Given the description of an element on the screen output the (x, y) to click on. 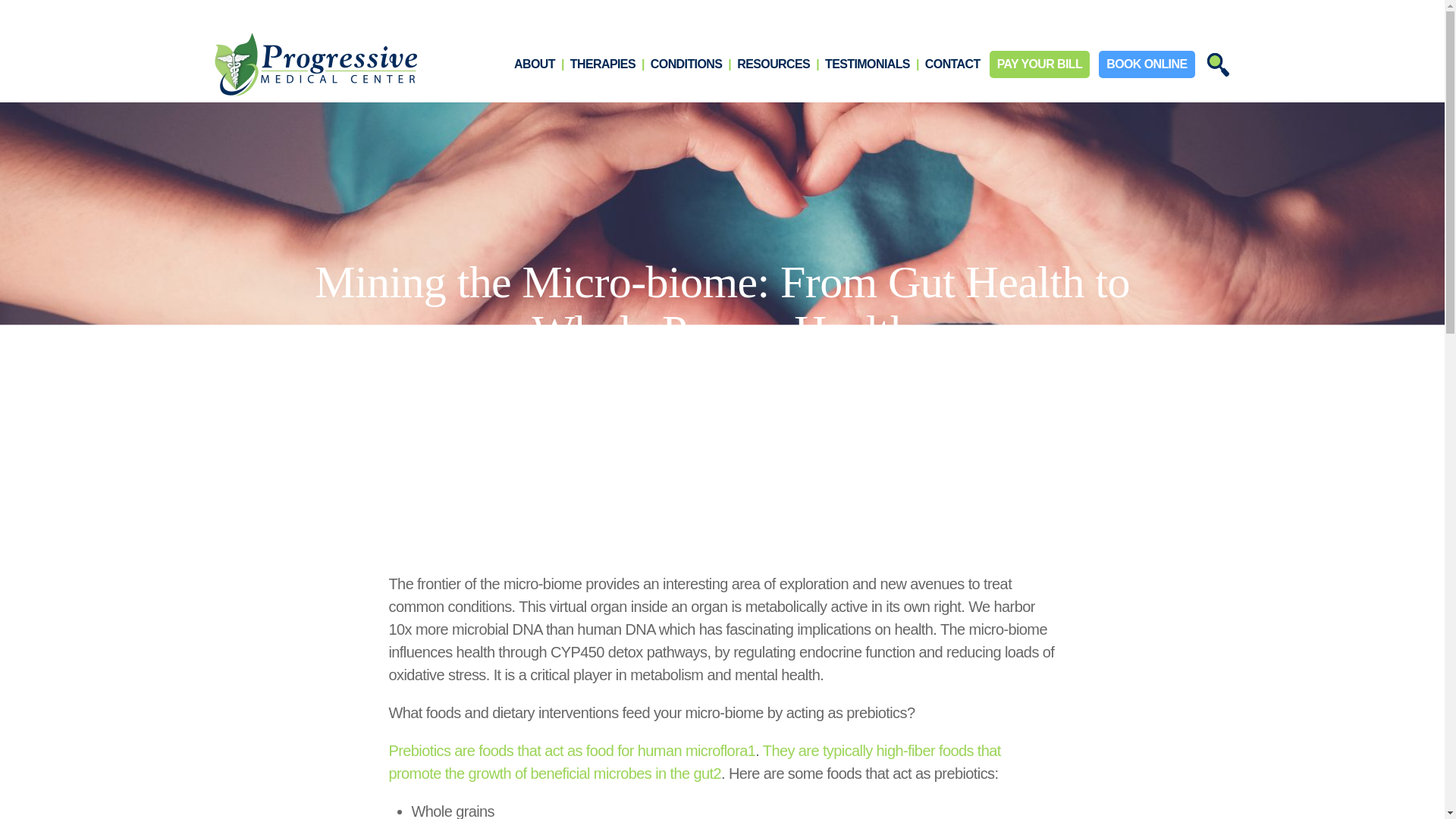
BOOK AN APPOINTMENT (677, 12)
ABOUT (533, 64)
TESTIMONIALS (867, 64)
CONDITIONS (686, 64)
770-676-6000 (803, 12)
THERAPIES (602, 64)
RESOURCES (772, 64)
